Given the description of an element on the screen output the (x, y) to click on. 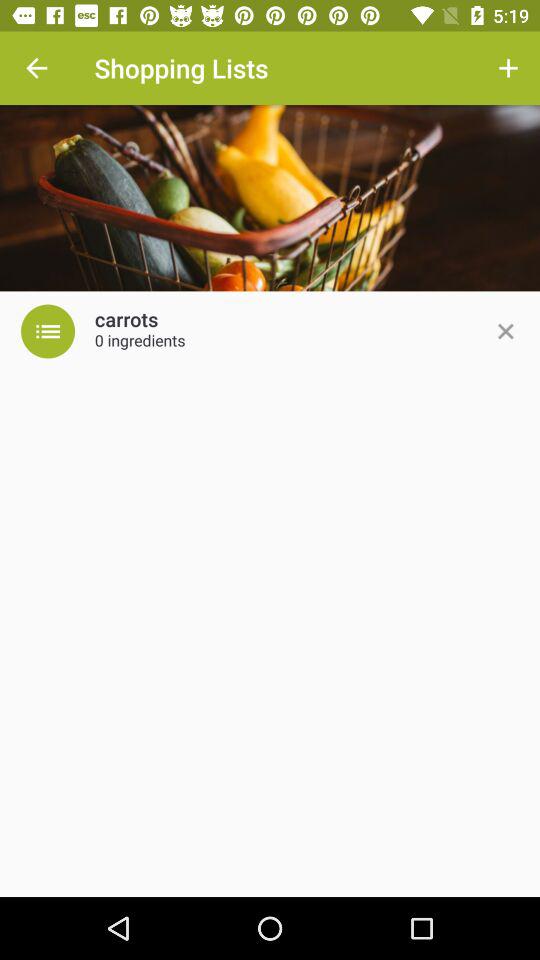
tap the item at the top left corner (36, 68)
